Given the description of an element on the screen output the (x, y) to click on. 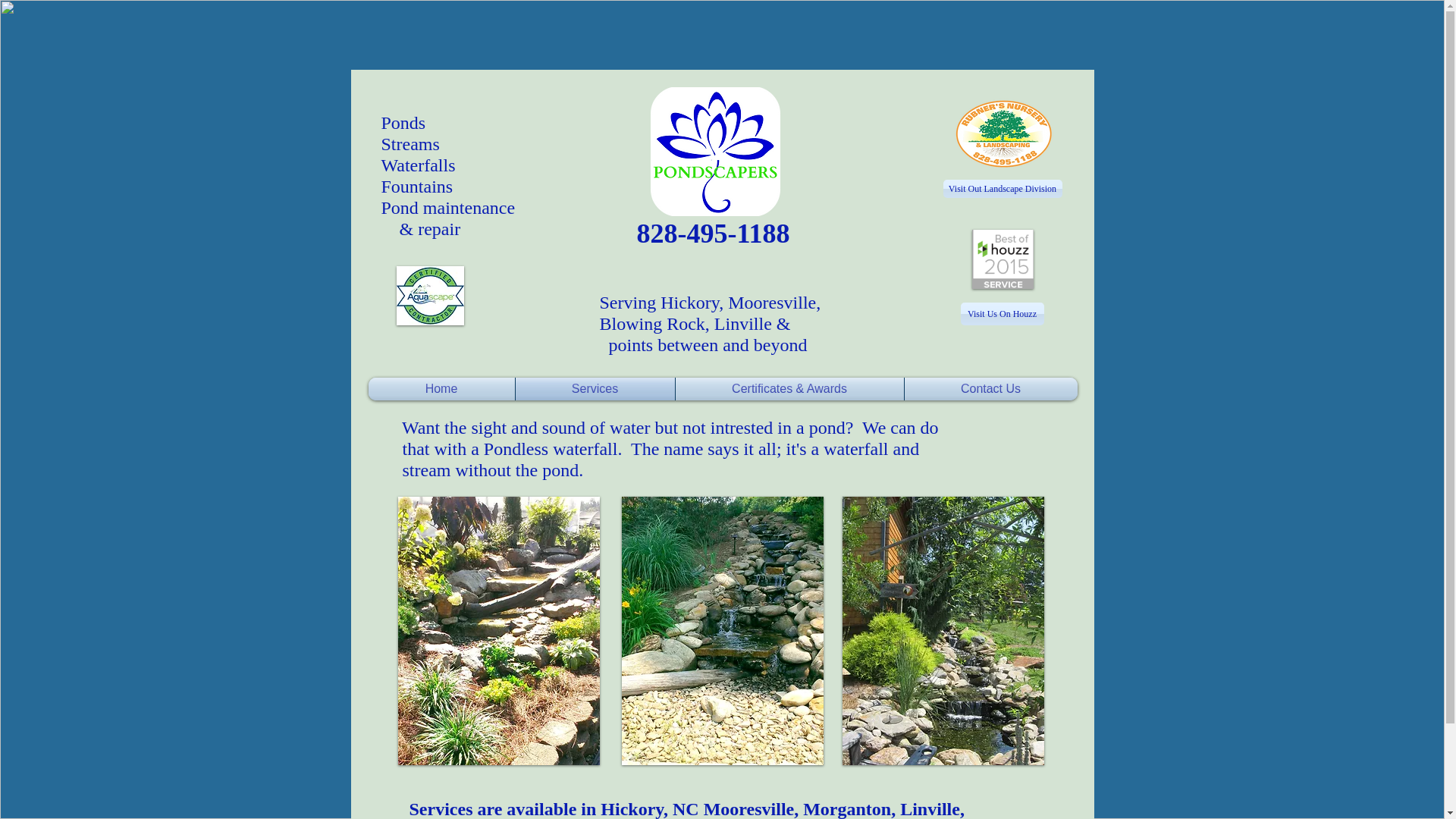
Home (441, 388)
Services (595, 388)
Visit Us On Houzz (1001, 313)
Contact Us (990, 388)
pondscapers1b.png (715, 151)
Visit Out Landscape Division (1002, 188)
